Given the description of an element on the screen output the (x, y) to click on. 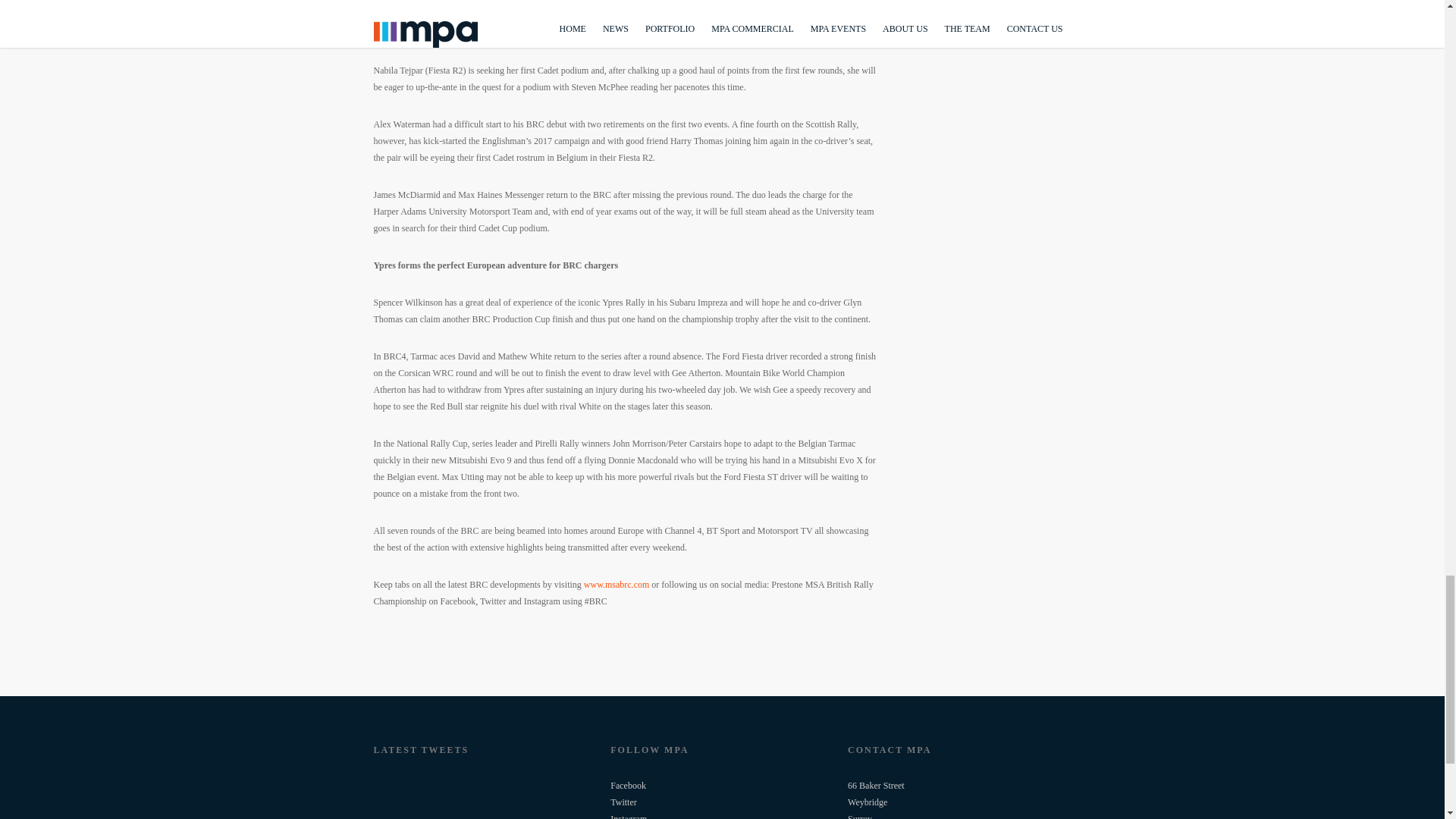
Facebook (628, 785)
Twitter (623, 801)
Instagram (628, 816)
www.msabrc.com (616, 584)
